Given the description of an element on the screen output the (x, y) to click on. 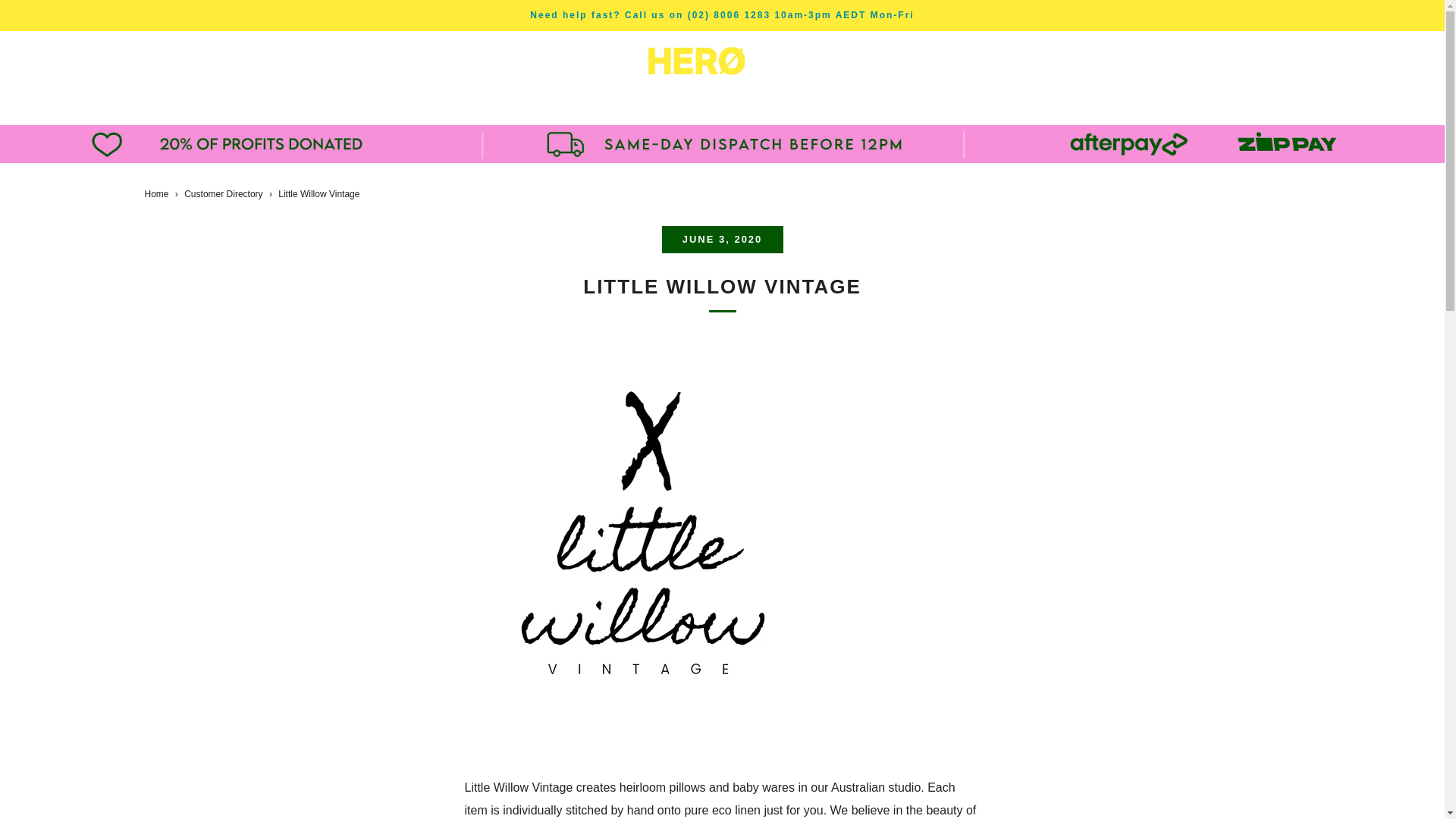
Home (156, 194)
